Given the description of an element on the screen output the (x, y) to click on. 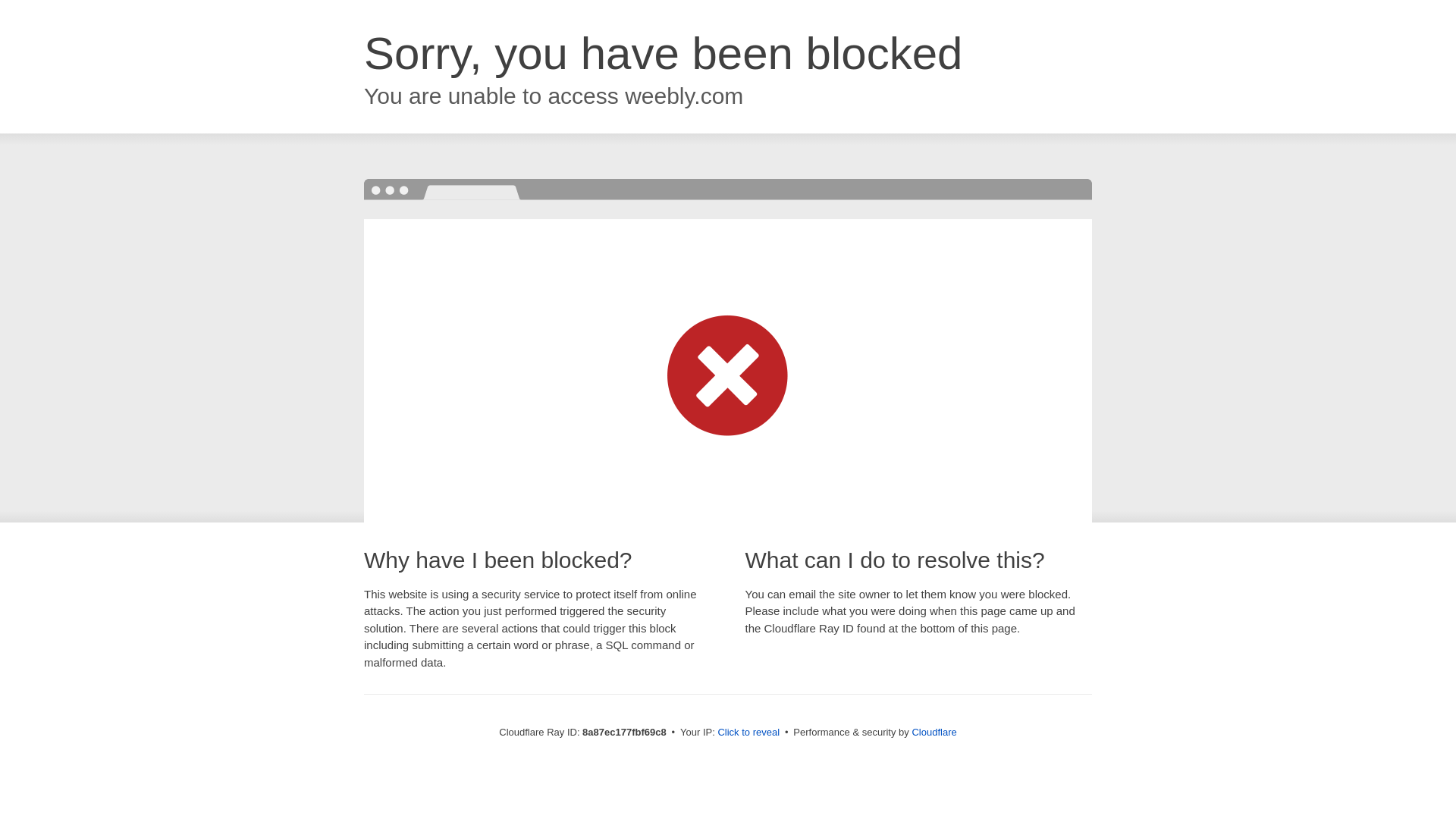
Click to reveal (747, 732)
Cloudflare (933, 731)
